Given the description of an element on the screen output the (x, y) to click on. 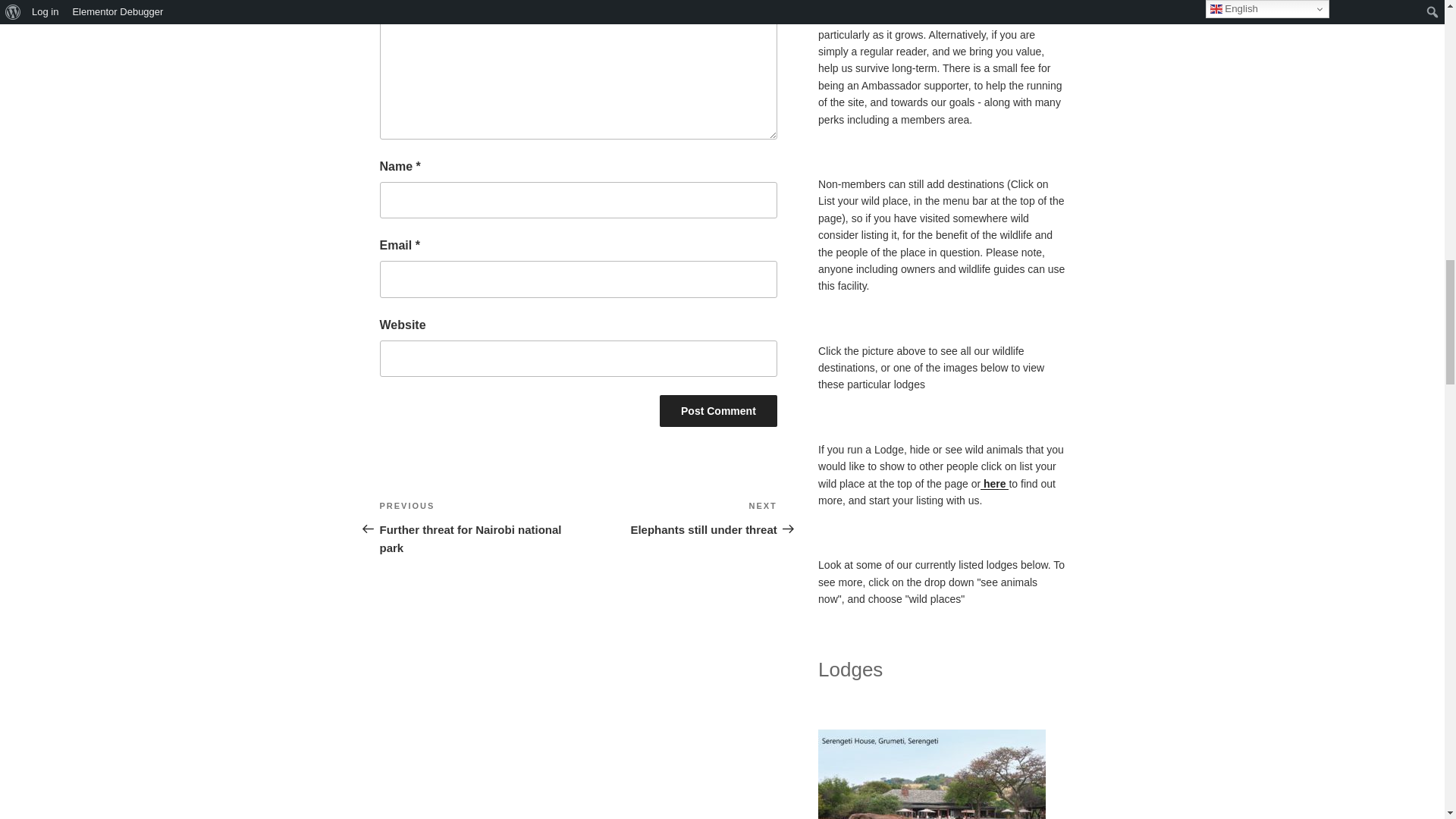
Post Comment (718, 410)
